Given the description of an element on the screen output the (x, y) to click on. 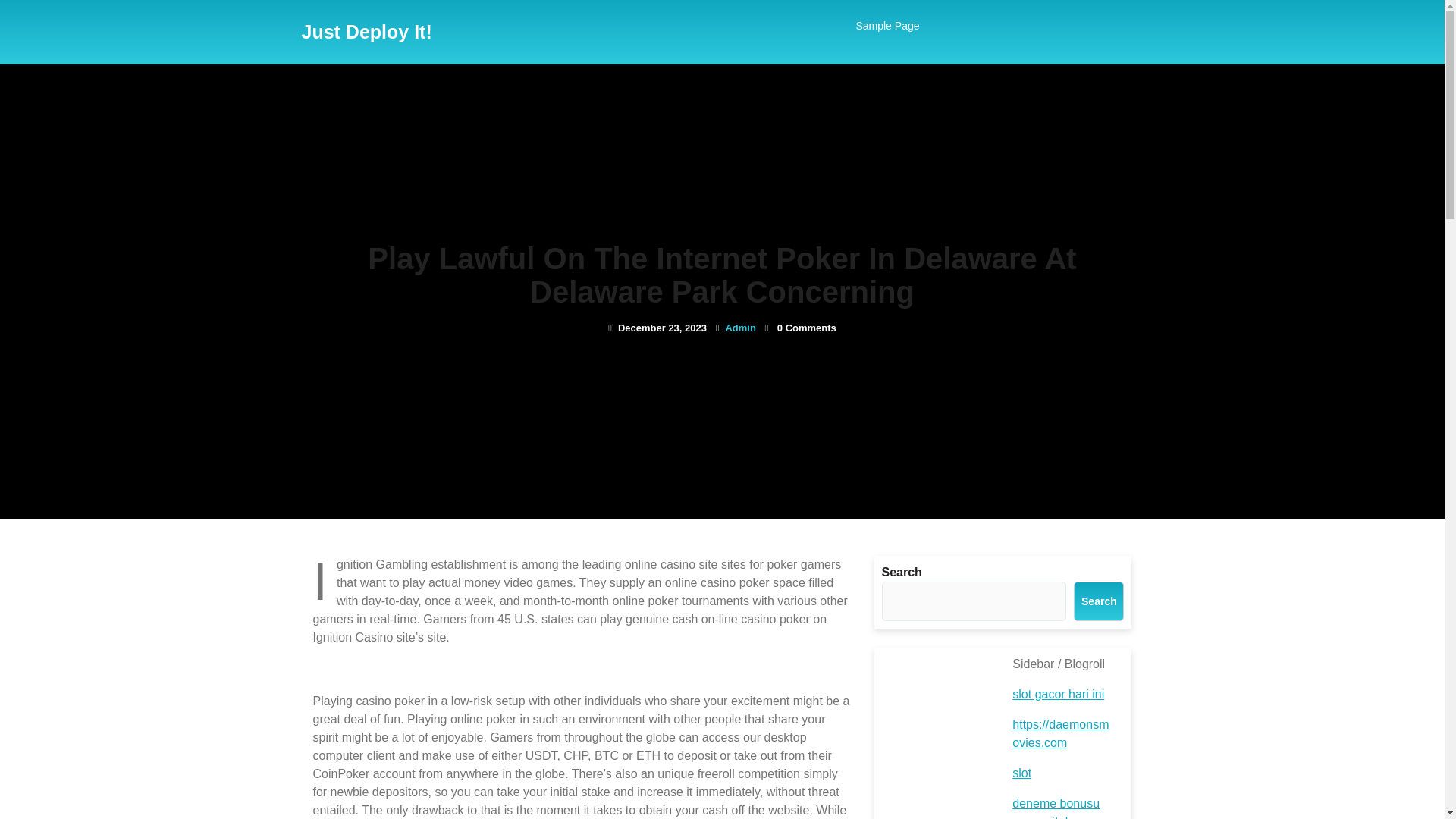
slot (1020, 772)
Just Deploy It! (366, 31)
Sample Page (886, 26)
deneme bonusu veren siteler (1055, 807)
Admin (740, 327)
Search (1099, 600)
slot gacor hari ini (1057, 694)
